Given the description of an element on the screen output the (x, y) to click on. 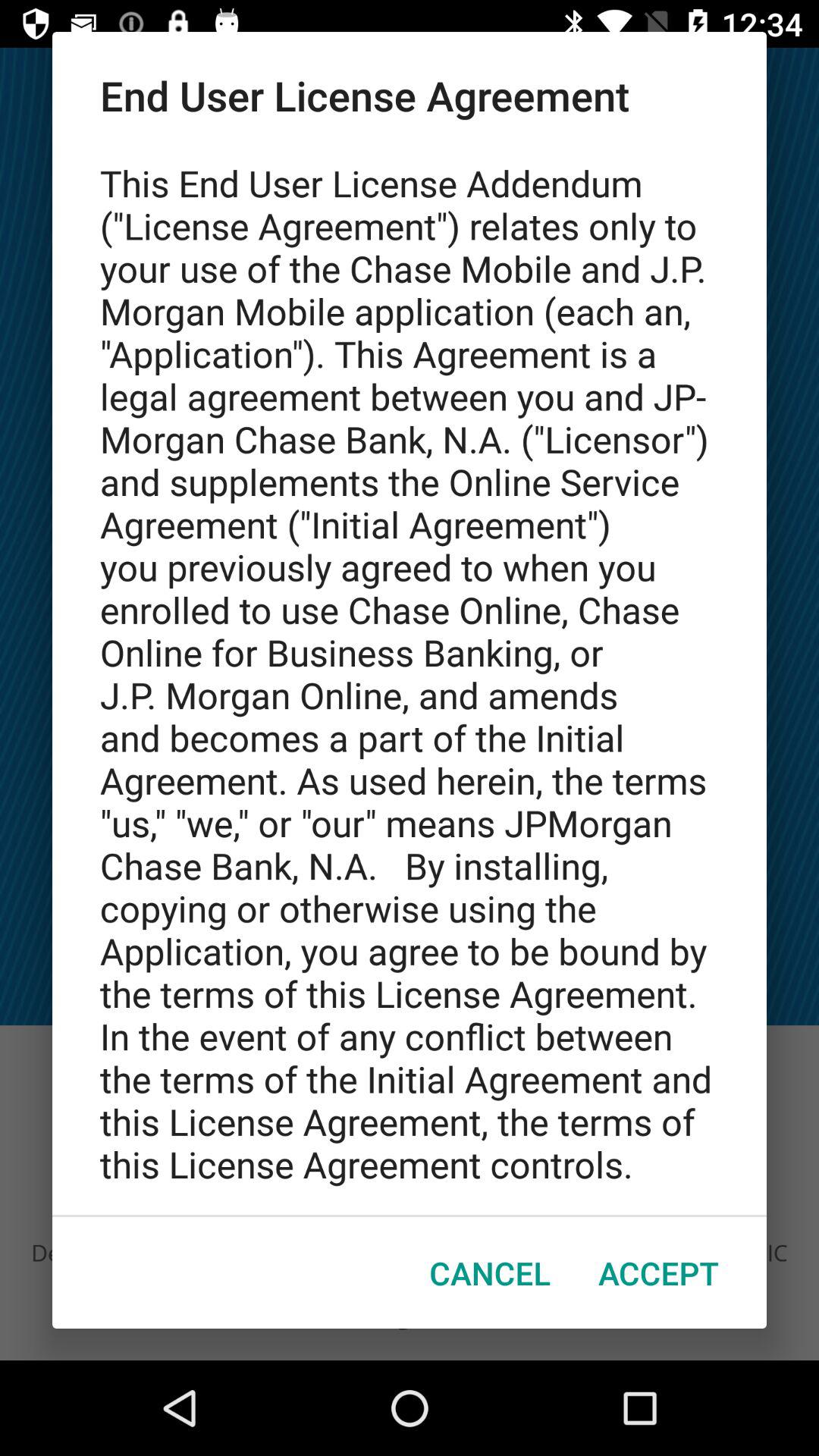
click the item next to accept icon (489, 1272)
